Given the description of an element on the screen output the (x, y) to click on. 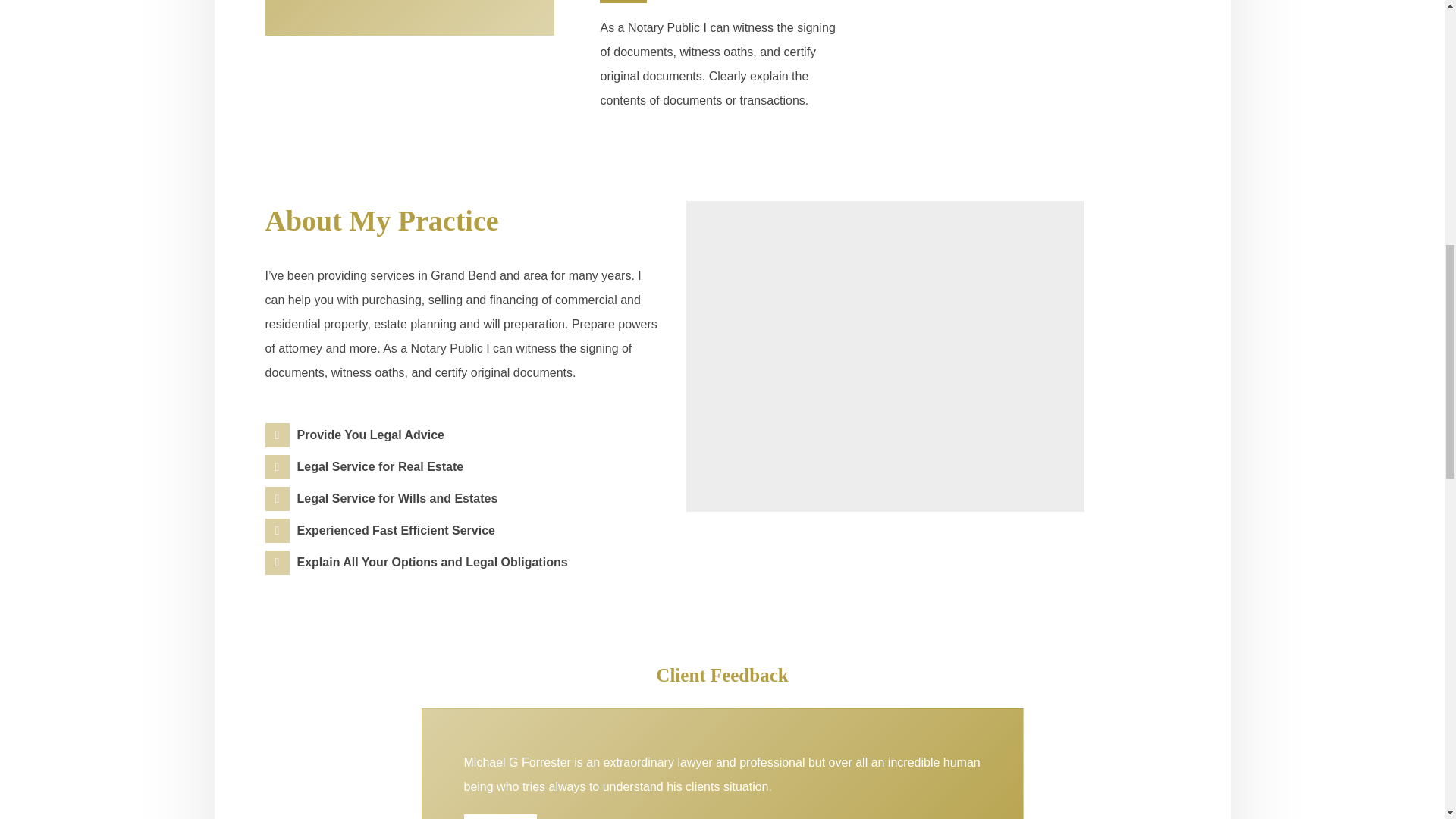
frontdesk (884, 355)
